Given the description of an element on the screen output the (x, y) to click on. 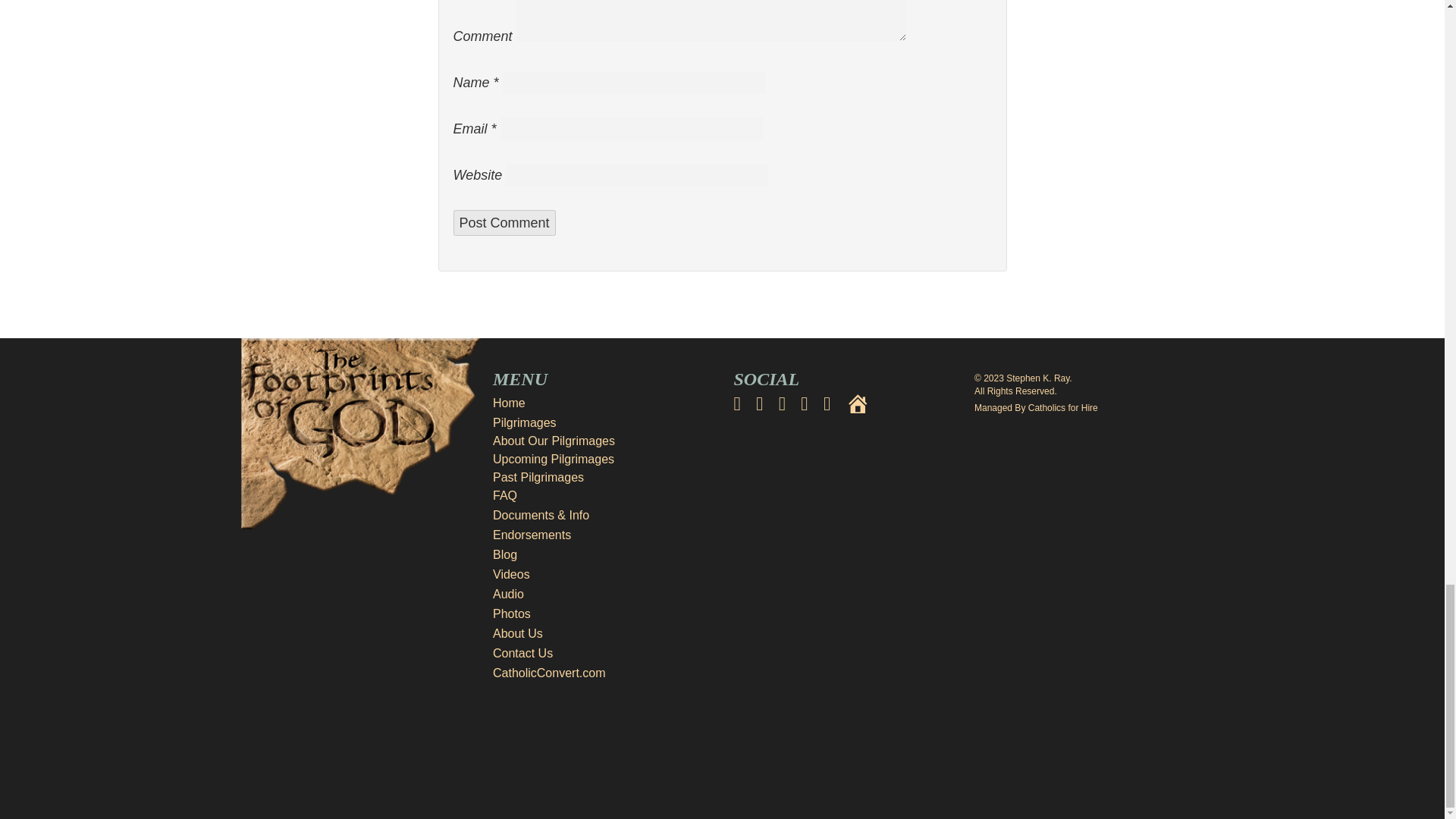
Endorsements (602, 535)
Videos (602, 574)
Audio (602, 594)
Post Comment (504, 222)
Past Pilgrimages (538, 477)
FAQ (504, 495)
Blog (602, 555)
Home (602, 402)
About Us (602, 633)
Post Comment (504, 222)
Upcoming Pilgrimages (553, 459)
Contact Us (602, 653)
CatholicConvert.com (602, 673)
Photos (602, 614)
Pilgrimages (602, 423)
